Given the description of an element on the screen output the (x, y) to click on. 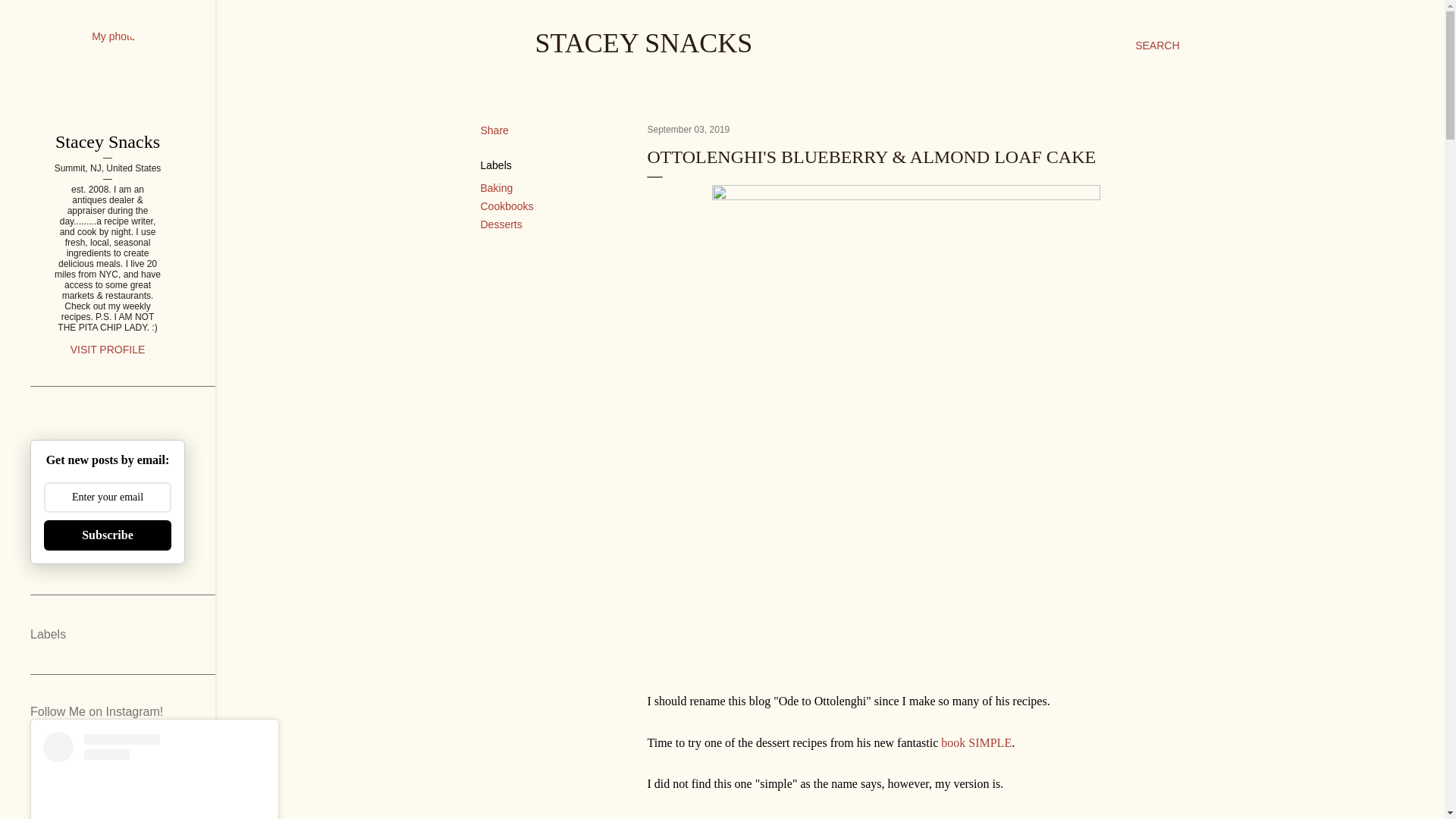
Share (494, 130)
Baking (496, 187)
SEARCH (1157, 45)
September 03, 2019 (688, 129)
STACEY SNACKS (643, 42)
book SIMPLE (975, 742)
Desserts (501, 224)
permanent link (688, 129)
Cookbooks (507, 205)
